Given the description of an element on the screen output the (x, y) to click on. 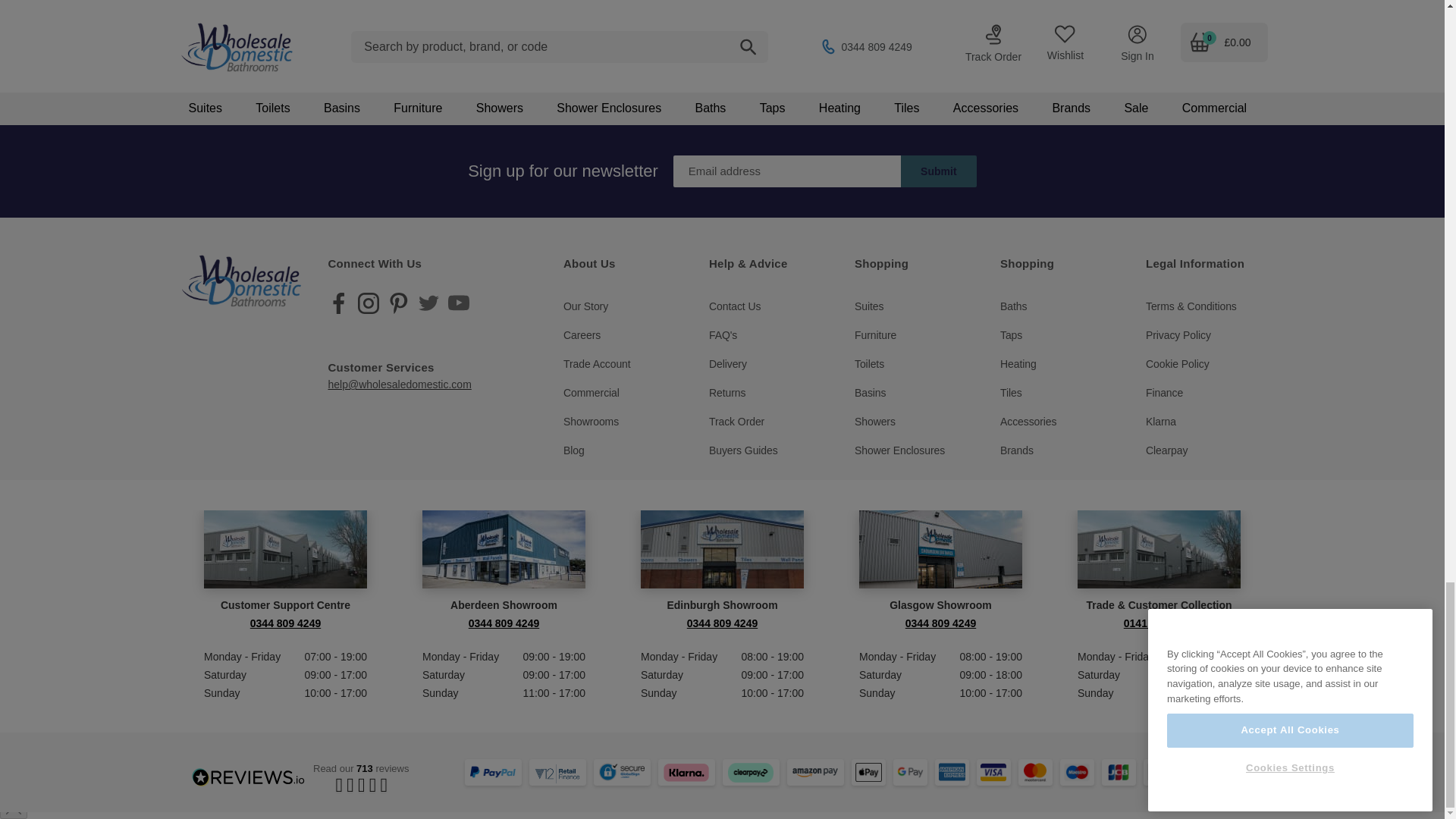
Submit (938, 171)
